Given the description of an element on the screen output the (x, y) to click on. 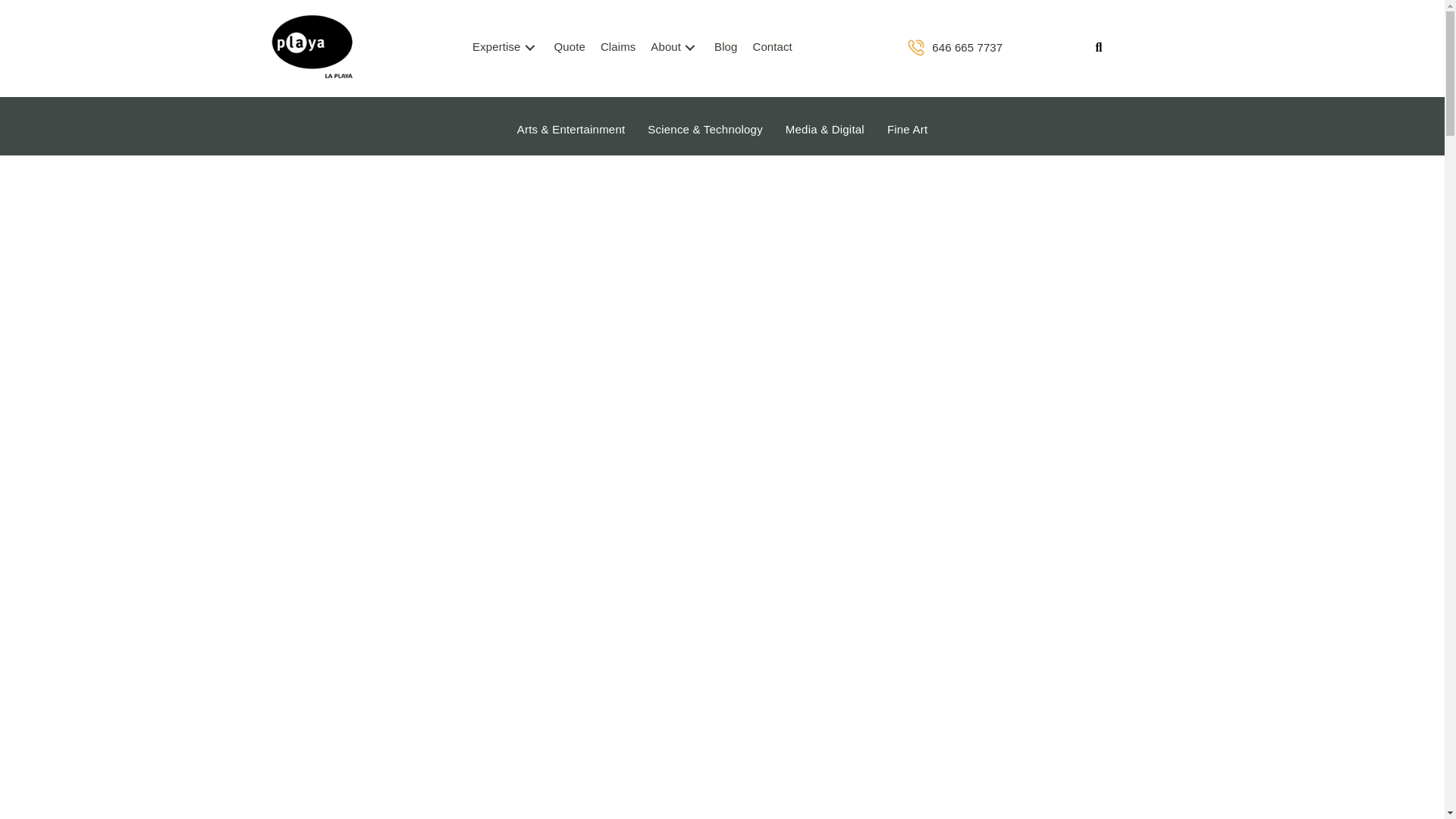
Contact (771, 47)
646 665 7737 (977, 47)
Blog (725, 47)
About (674, 47)
Expertise (505, 47)
Quote (569, 47)
Claims (617, 47)
